Given the description of an element on the screen output the (x, y) to click on. 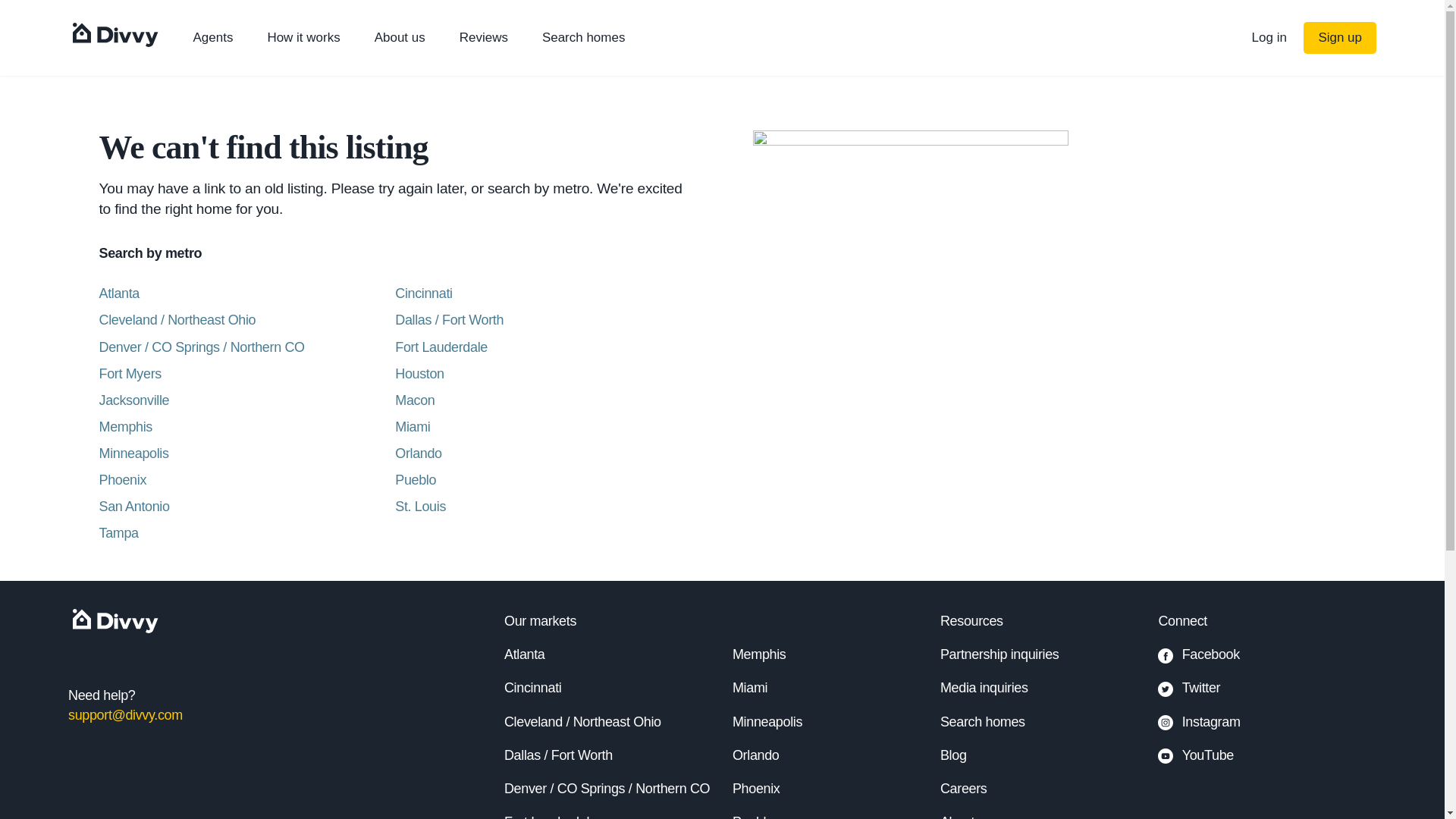
Search homes (583, 37)
Atlanta (523, 654)
Reviews (484, 37)
Phoenix (246, 479)
Cincinnati (531, 687)
Fort Myers (246, 373)
Macon (542, 400)
Sign up (1339, 38)
Cincinnati (542, 293)
Agents (212, 37)
